Given the description of an element on the screen output the (x, y) to click on. 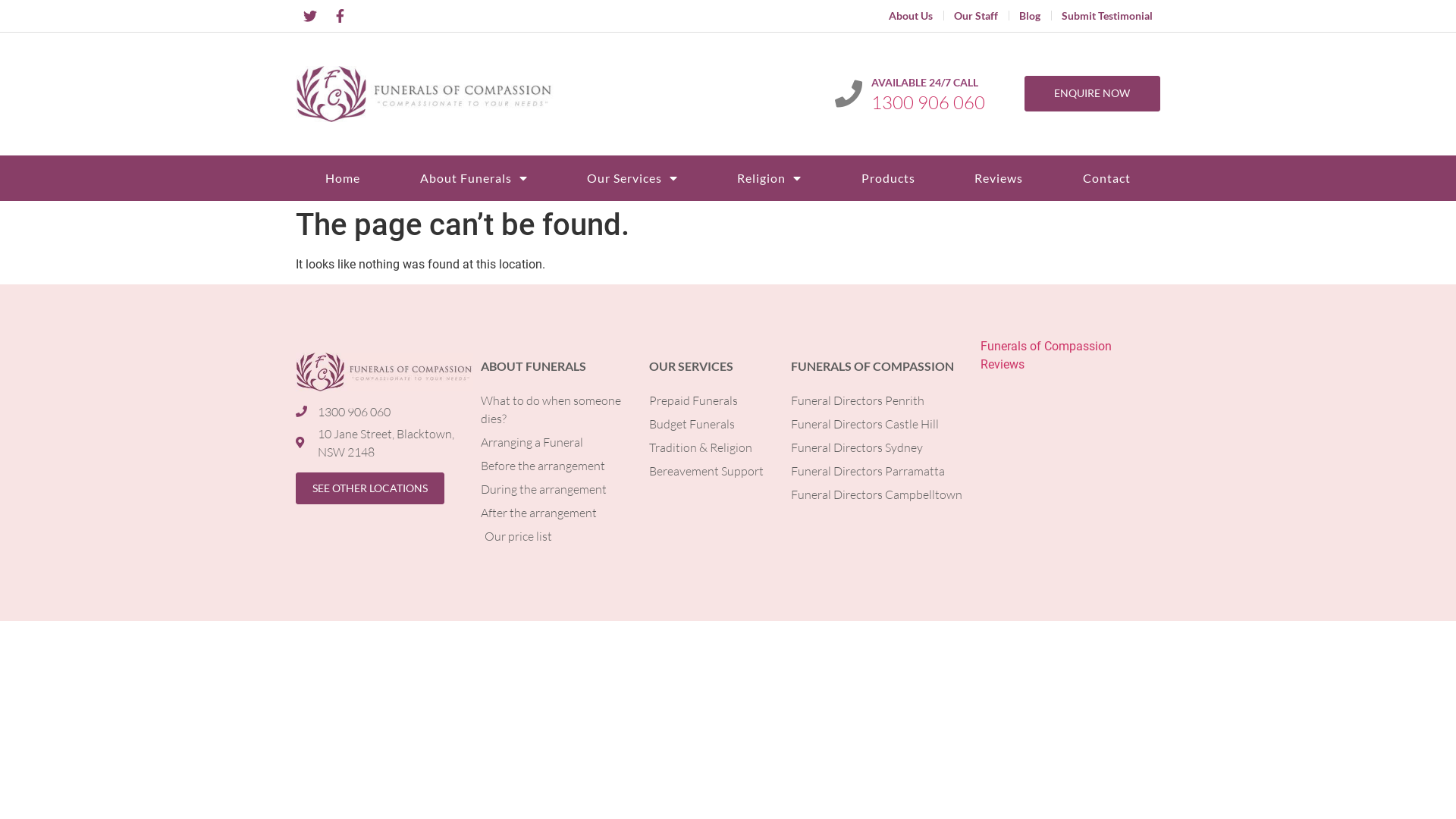
Arranging a Funeral Element type: text (556, 442)
SEE OTHER LOCATIONS Element type: text (369, 488)
Religion Element type: text (769, 177)
What to do when someone dies? Element type: text (556, 409)
Our price list Element type: text (556, 536)
About Funerals Element type: text (472, 177)
Blog Element type: text (1029, 15)
Products Element type: text (887, 177)
Funerals of Compassion Reviews Element type: text (1066, 355)
Budget Funerals Element type: text (712, 423)
Tradition & Religion Element type: text (712, 447)
Contact Element type: text (1106, 177)
Funeral Directors Castle Hill Element type: text (877, 423)
ENQUIRE NOW Element type: text (1092, 92)
Bereavement Support Element type: text (712, 470)
Home Element type: text (342, 177)
Funeral Directors Campbelltown Element type: text (877, 494)
Prepaid Funerals Element type: text (712, 400)
Our Services Element type: text (632, 177)
Funeral Directors Penrith Element type: text (877, 400)
Our Staff Element type: text (975, 15)
About Us Element type: text (910, 15)
After the arrangement Element type: text (556, 512)
Before the arrangement Element type: text (556, 465)
Reviews Element type: text (998, 177)
Submit Testimonial Element type: text (1106, 15)
1300 906 060 Element type: text (928, 102)
Funeral Directors Sydney Element type: text (877, 447)
Funeral Directors Parramatta Element type: text (877, 470)
During the arrangement Element type: text (556, 489)
